Given the description of an element on the screen output the (x, y) to click on. 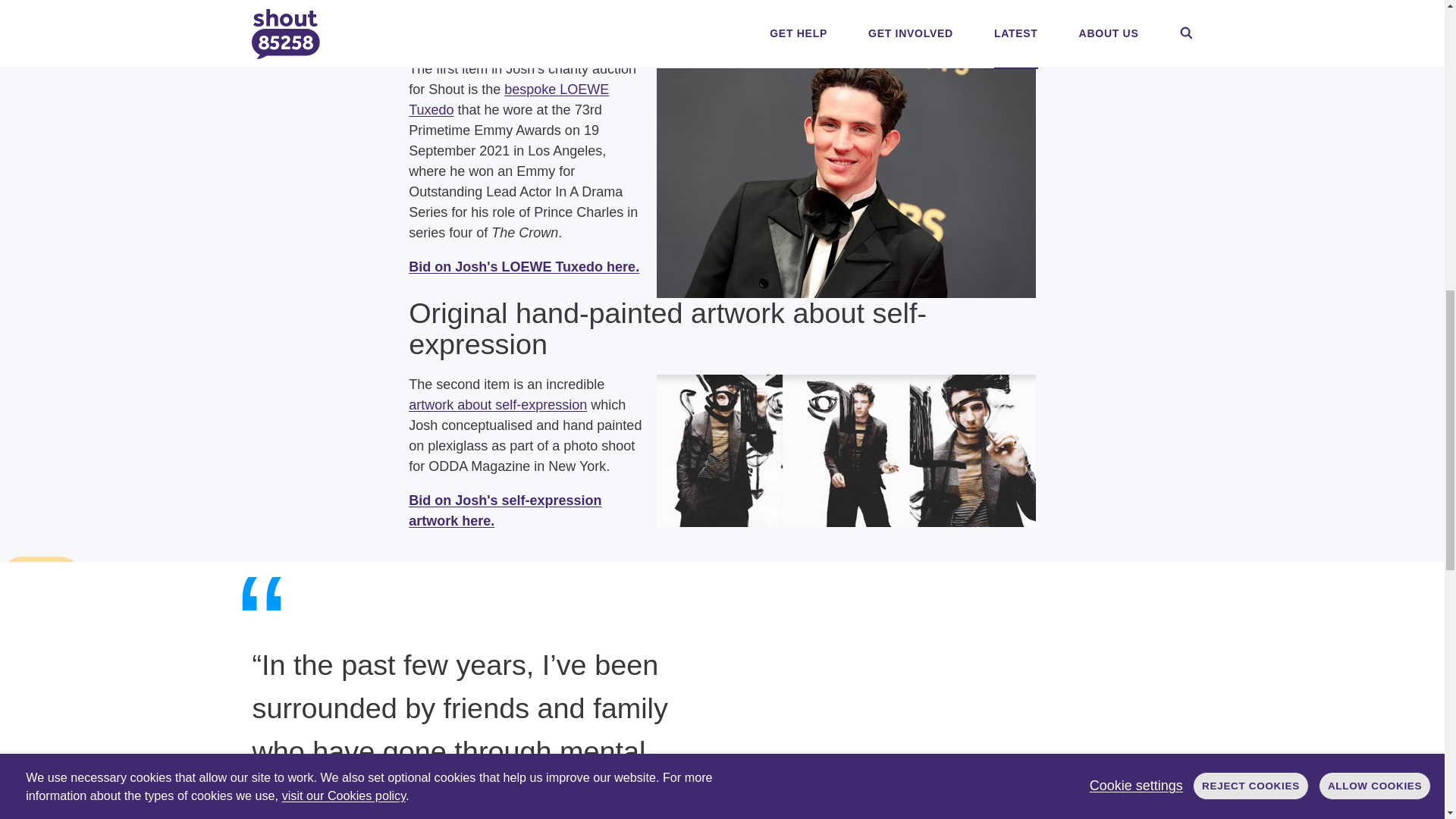
Bid on Josh's LOEWE Tuxedo here. (524, 266)
bespoke LOEWE Tuxedo (508, 99)
artwork about self-expression (497, 404)
Bid on Josh's self-expression artwork here. (505, 510)
